Given the description of an element on the screen output the (x, y) to click on. 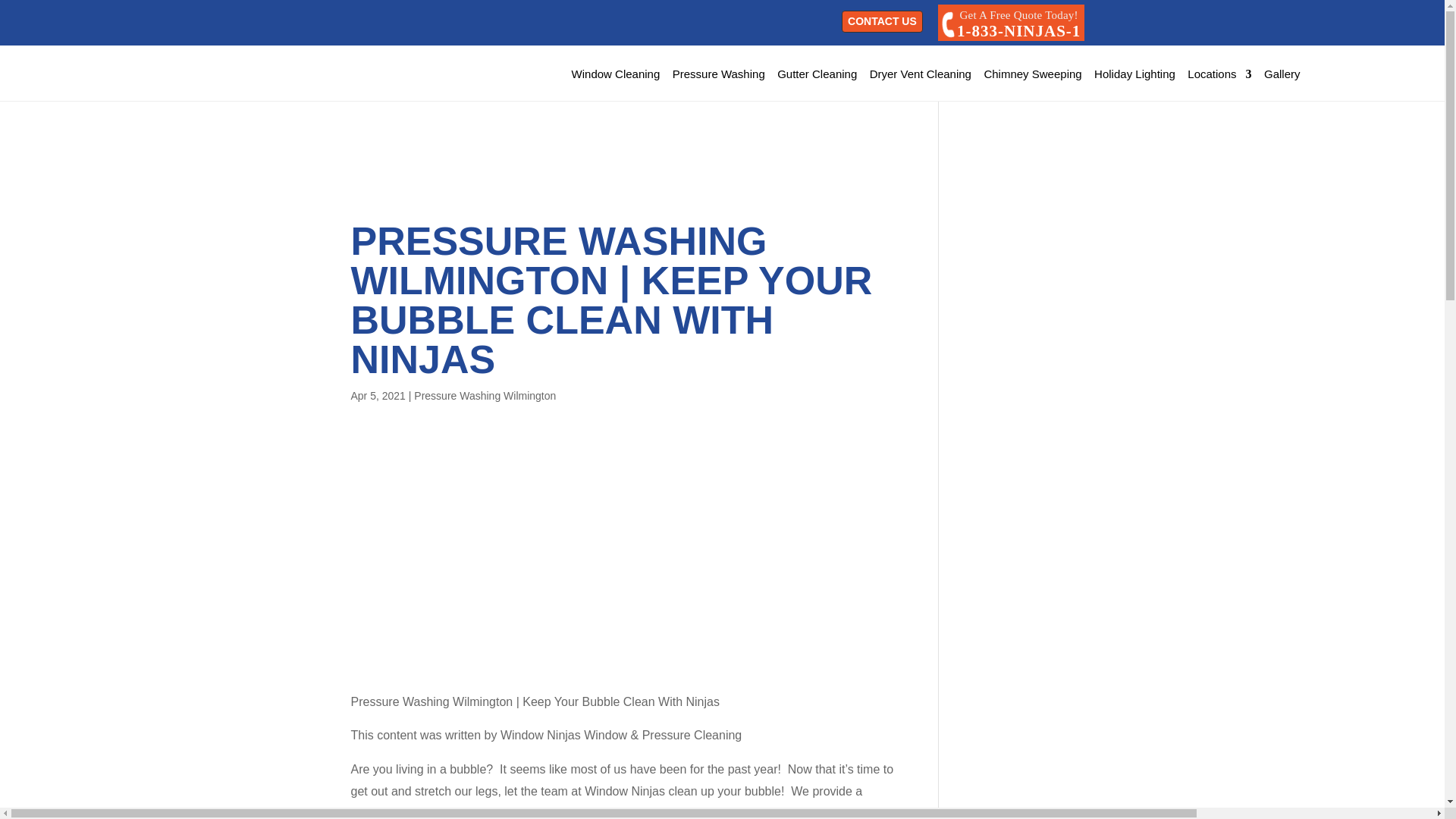
Gutter Cleaning (817, 73)
Window Cleaning (616, 73)
Holiday Lighting (1134, 73)
Pressure Washing (718, 73)
Chimney Sweeping (1032, 73)
CONTACT US (882, 21)
Dryer Vent Cleaning (920, 73)
Locations (1010, 22)
